Given the description of an element on the screen output the (x, y) to click on. 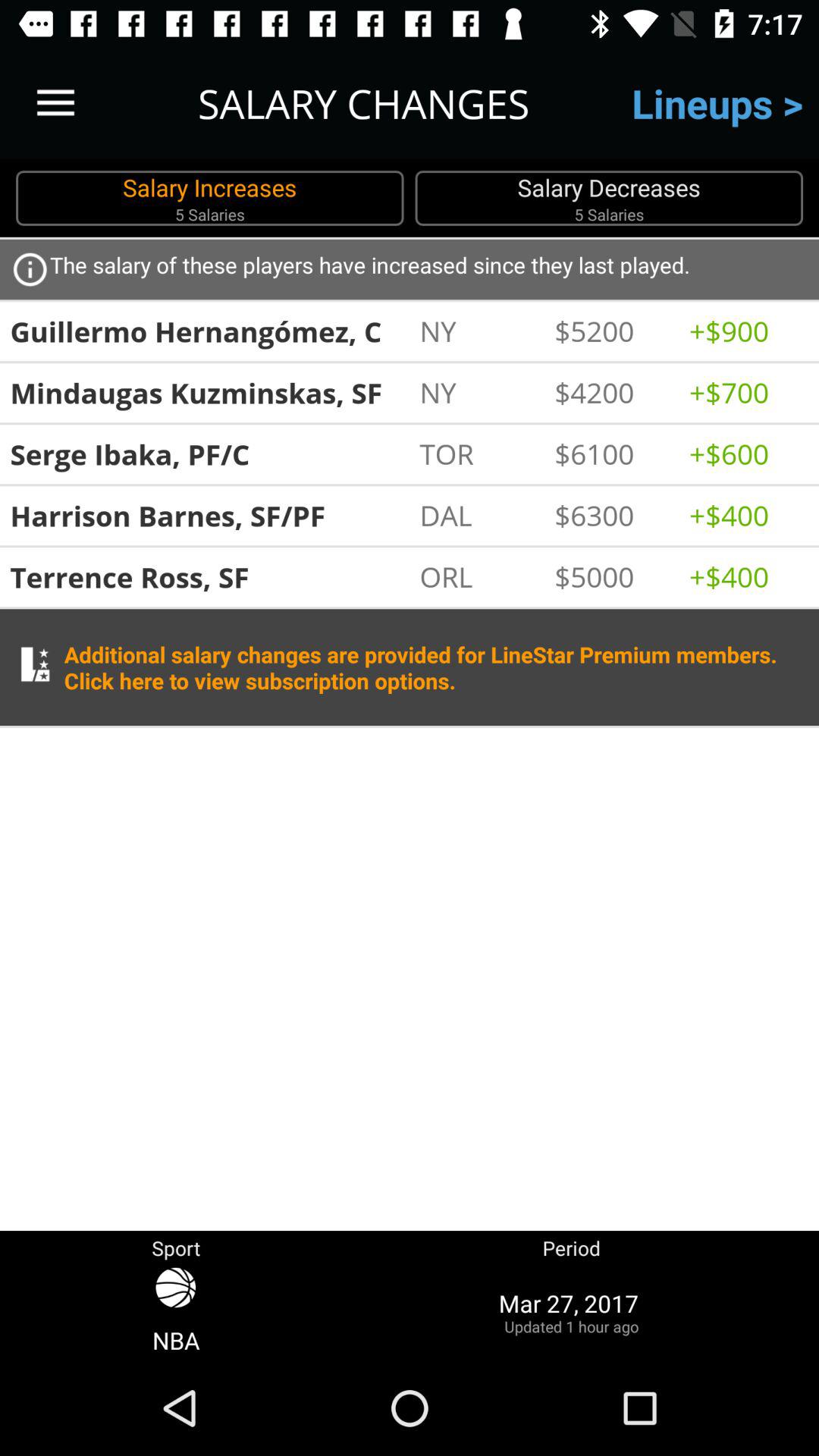
turn on the item above $6100 icon (613, 392)
